Given the description of an element on the screen output the (x, y) to click on. 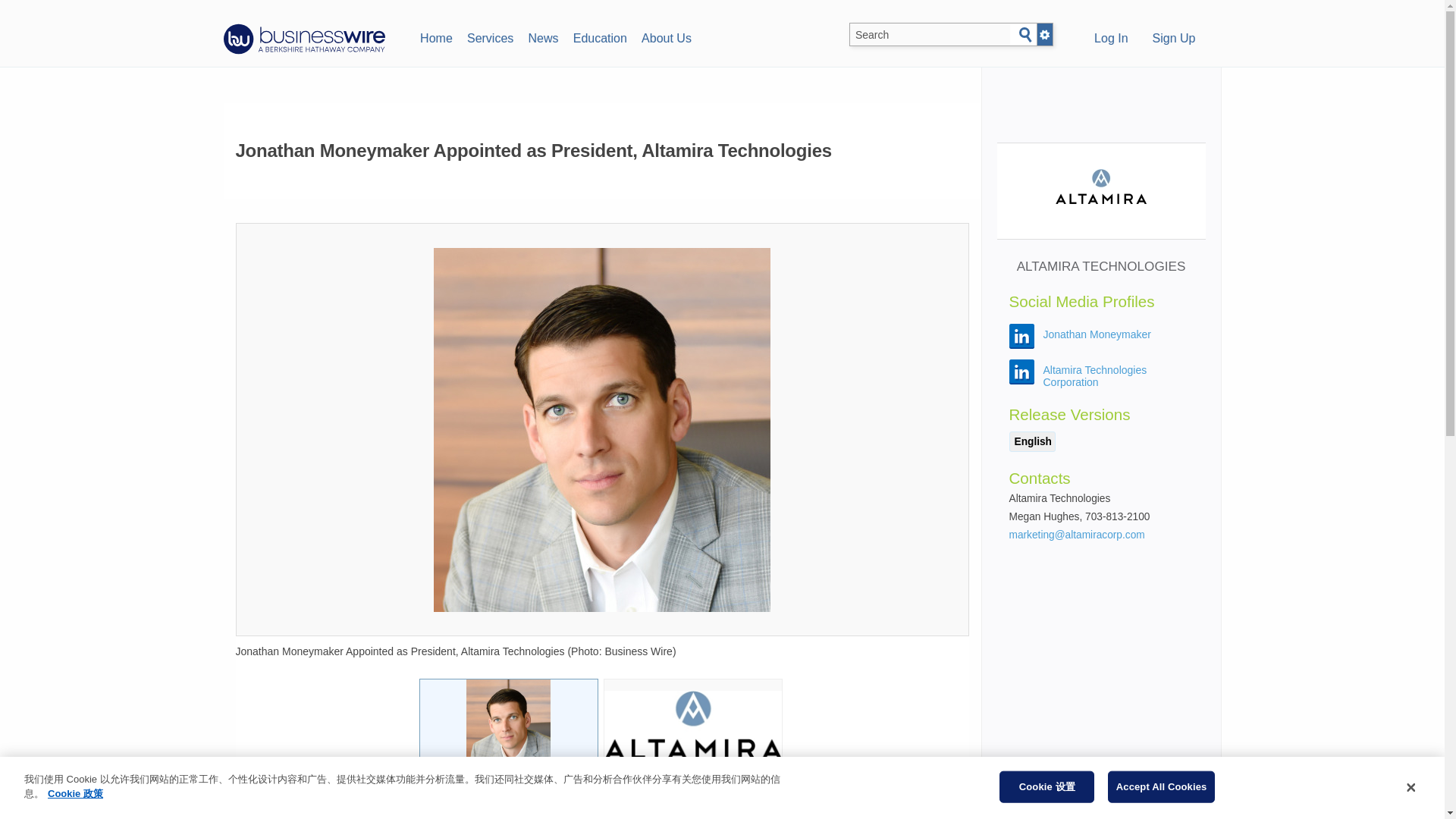
Search BusinessWire.com (930, 34)
Home (436, 36)
Education (599, 36)
Search (1025, 34)
About Us (665, 36)
Jonathan Moneymaker (1097, 334)
Altamira Technologies Corporation (1095, 375)
News (543, 36)
Services (490, 36)
